Given the description of an element on the screen output the (x, y) to click on. 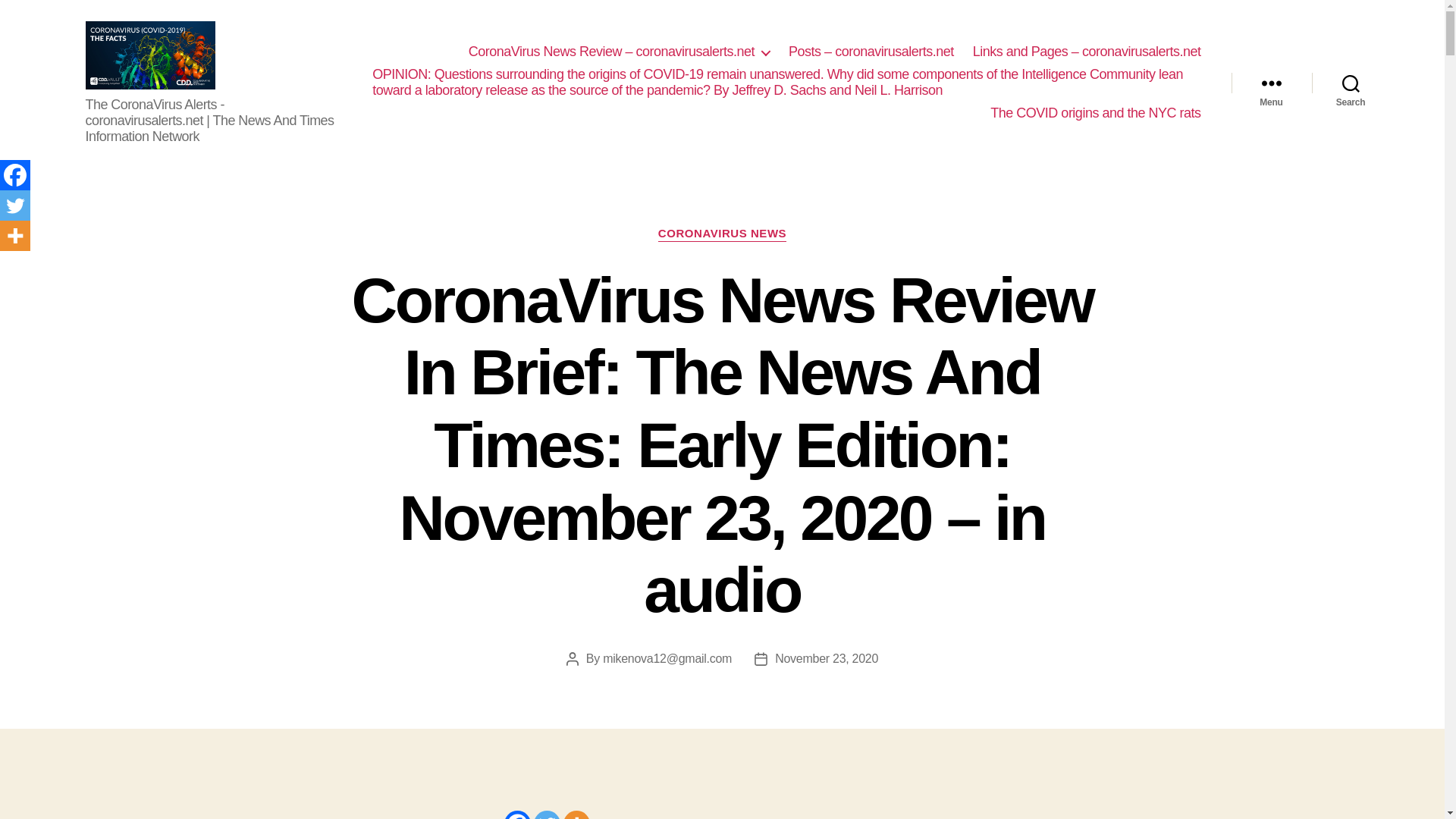
Facebook (15, 174)
CORONAVIRUS NEWS (722, 233)
The COVID origins and the NYC rats (1094, 113)
Facebook (516, 814)
More (15, 235)
Twitter (15, 205)
Twitter (547, 814)
Search (1350, 82)
Menu (1271, 82)
